Given the description of an element on the screen output the (x, y) to click on. 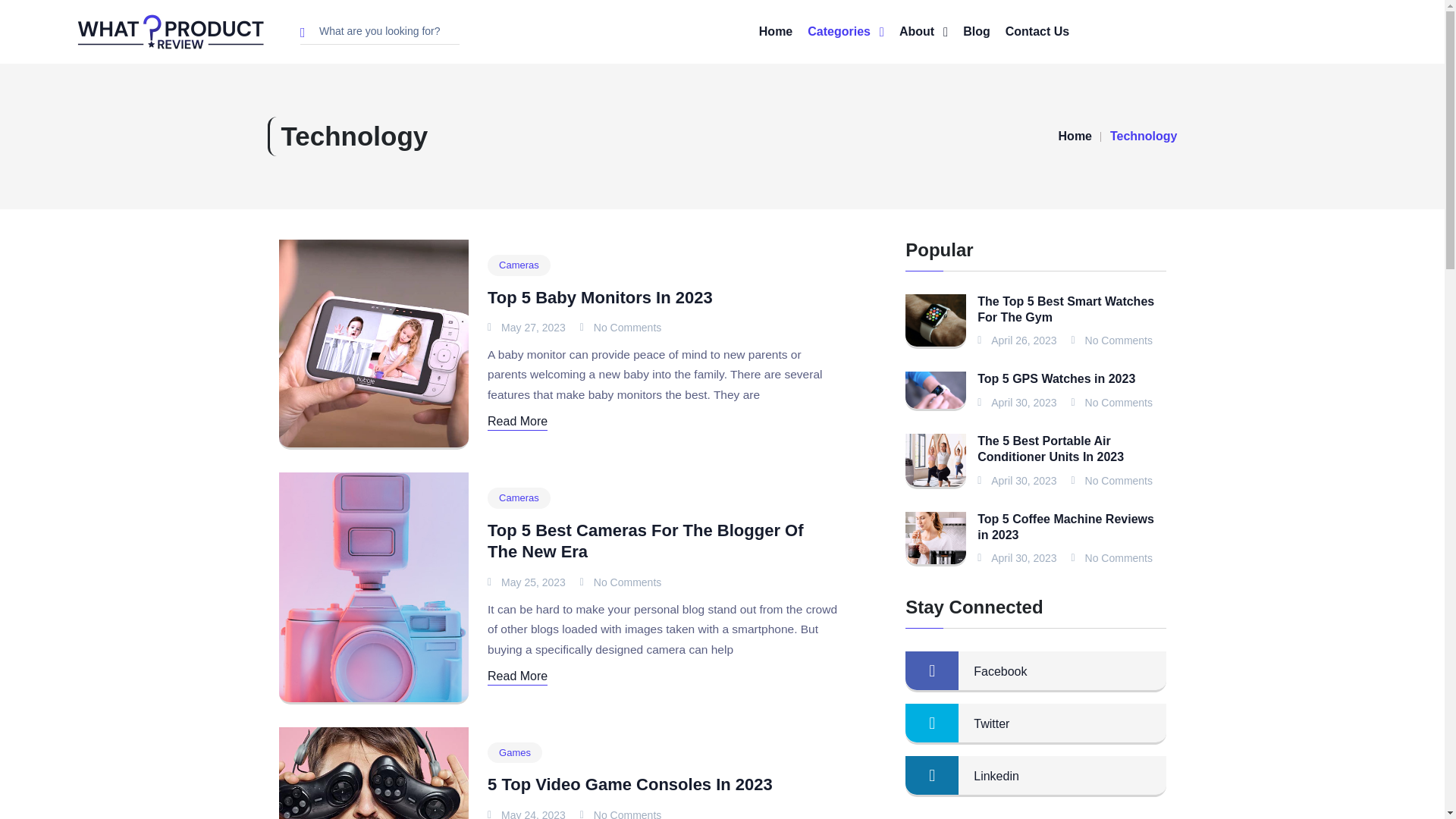
Cameras (518, 497)
Home (1075, 136)
Read More (517, 421)
Categories (845, 31)
Contact Us (1037, 31)
Categories (845, 31)
Top 5 Baby Monitors In 2023 (600, 297)
Cameras (518, 265)
